Given the description of an element on the screen output the (x, y) to click on. 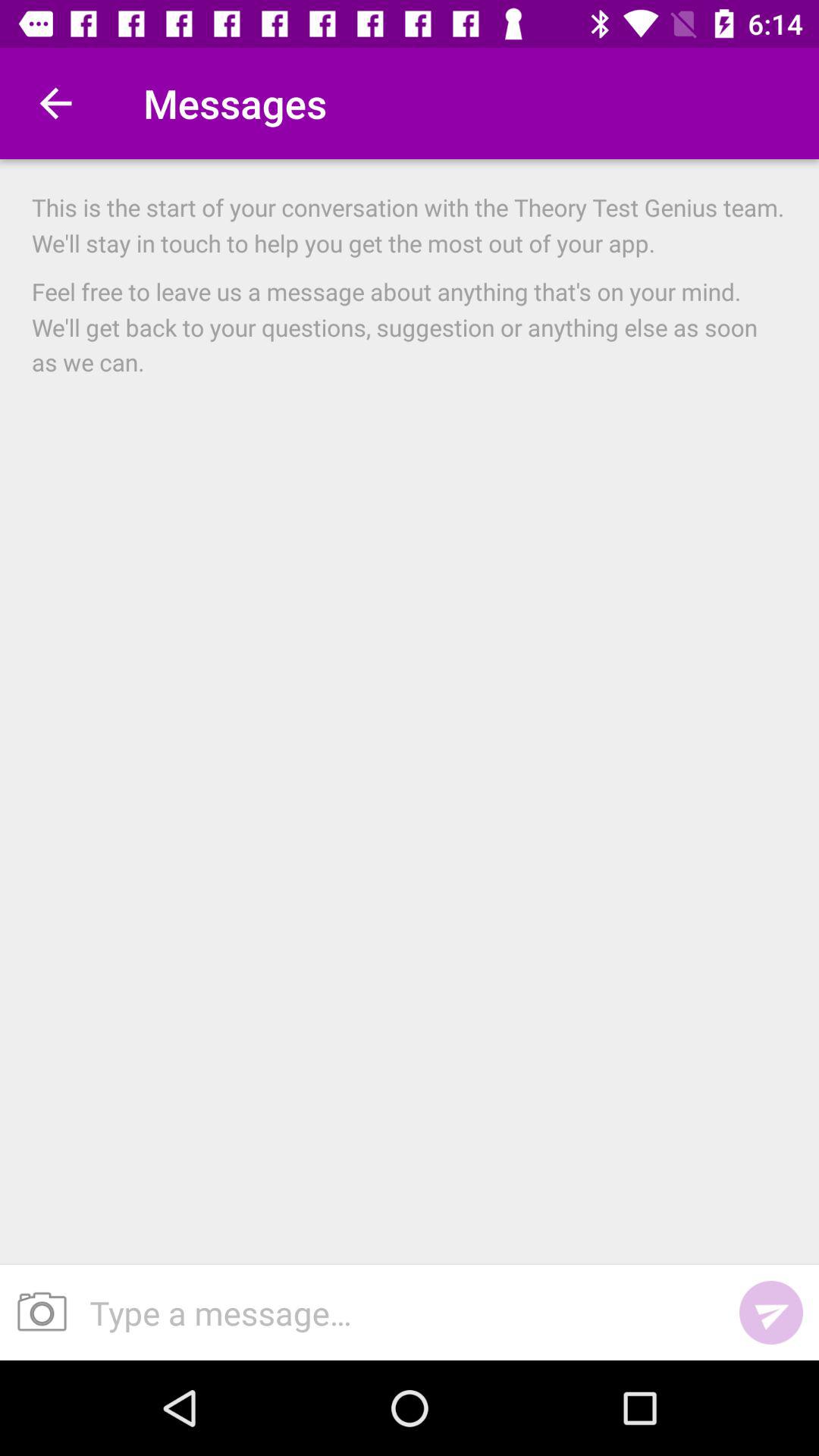
click the item below the feel free to icon (36, 1312)
